Given the description of an element on the screen output the (x, y) to click on. 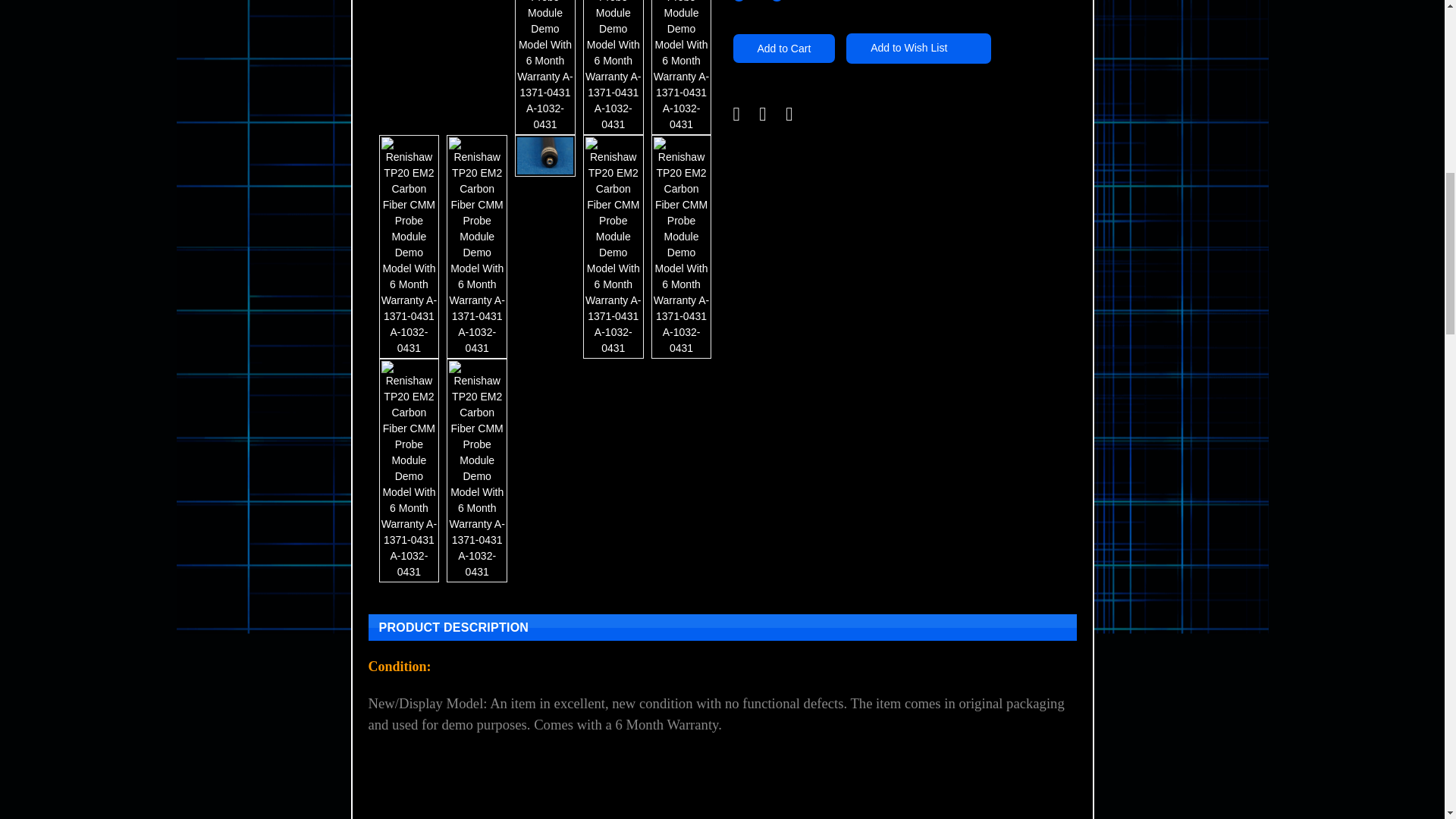
Add to Cart (783, 48)
